Given the description of an element on the screen output the (x, y) to click on. 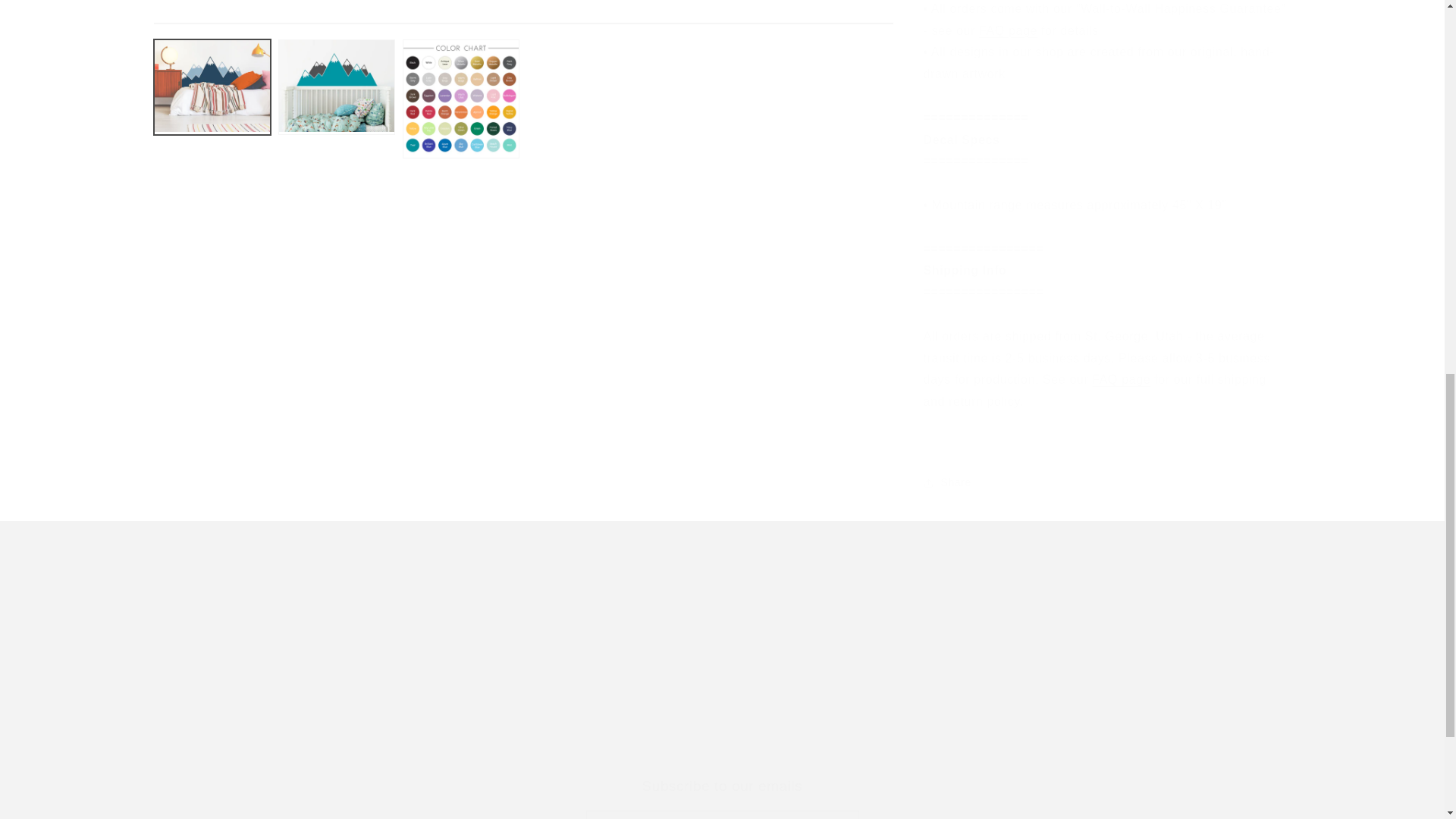
FAQ page wall decals (721, 798)
FAQ page wall decals (1007, 19)
